Given the description of an element on the screen output the (x, y) to click on. 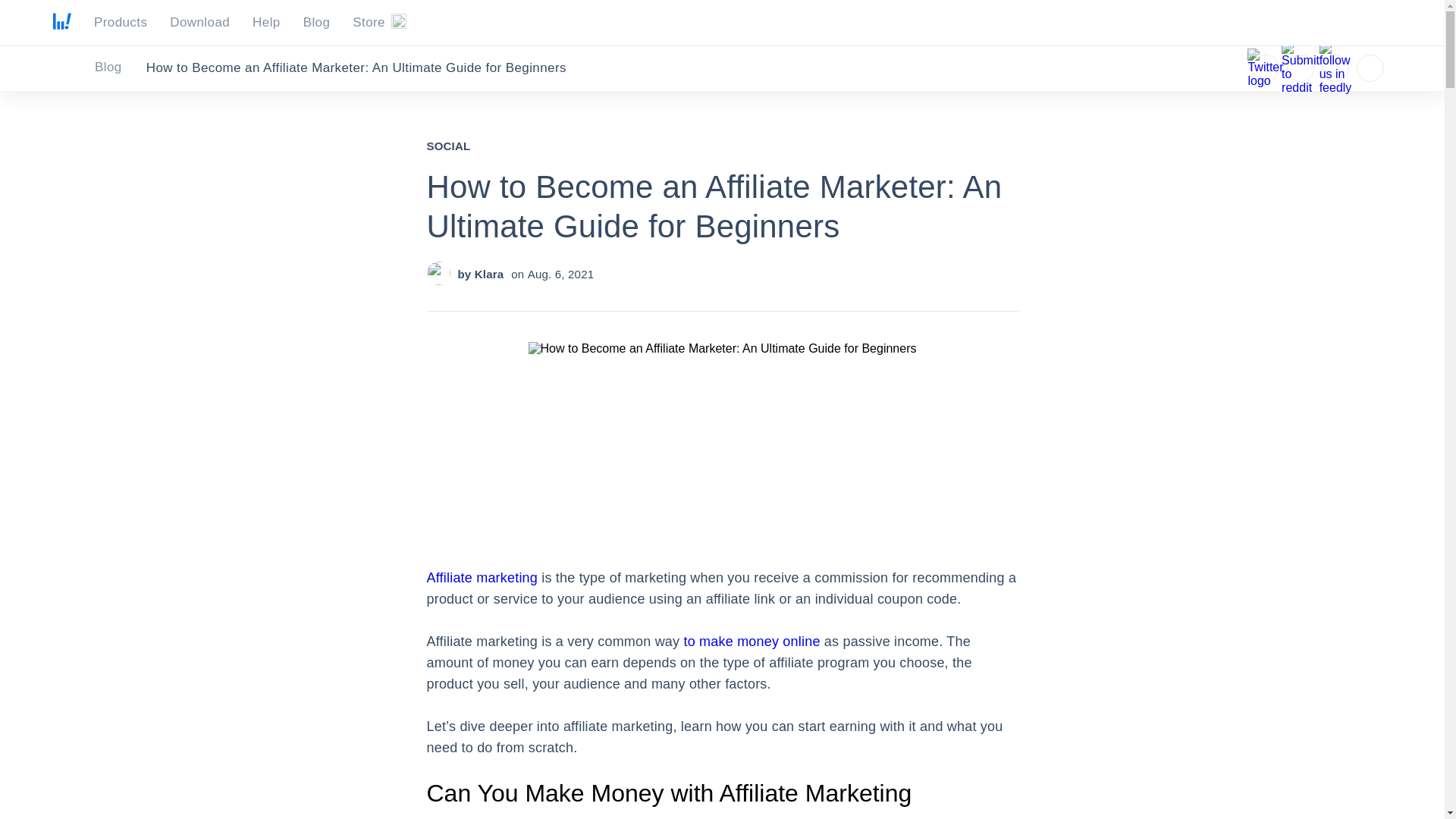
Klara (488, 273)
to make money online (752, 641)
Store (379, 22)
Blog (116, 67)
SOCIAL (448, 146)
Show all Klara's entries (488, 273)
Help (266, 22)
Home page (61, 24)
